Given the description of an element on the screen output the (x, y) to click on. 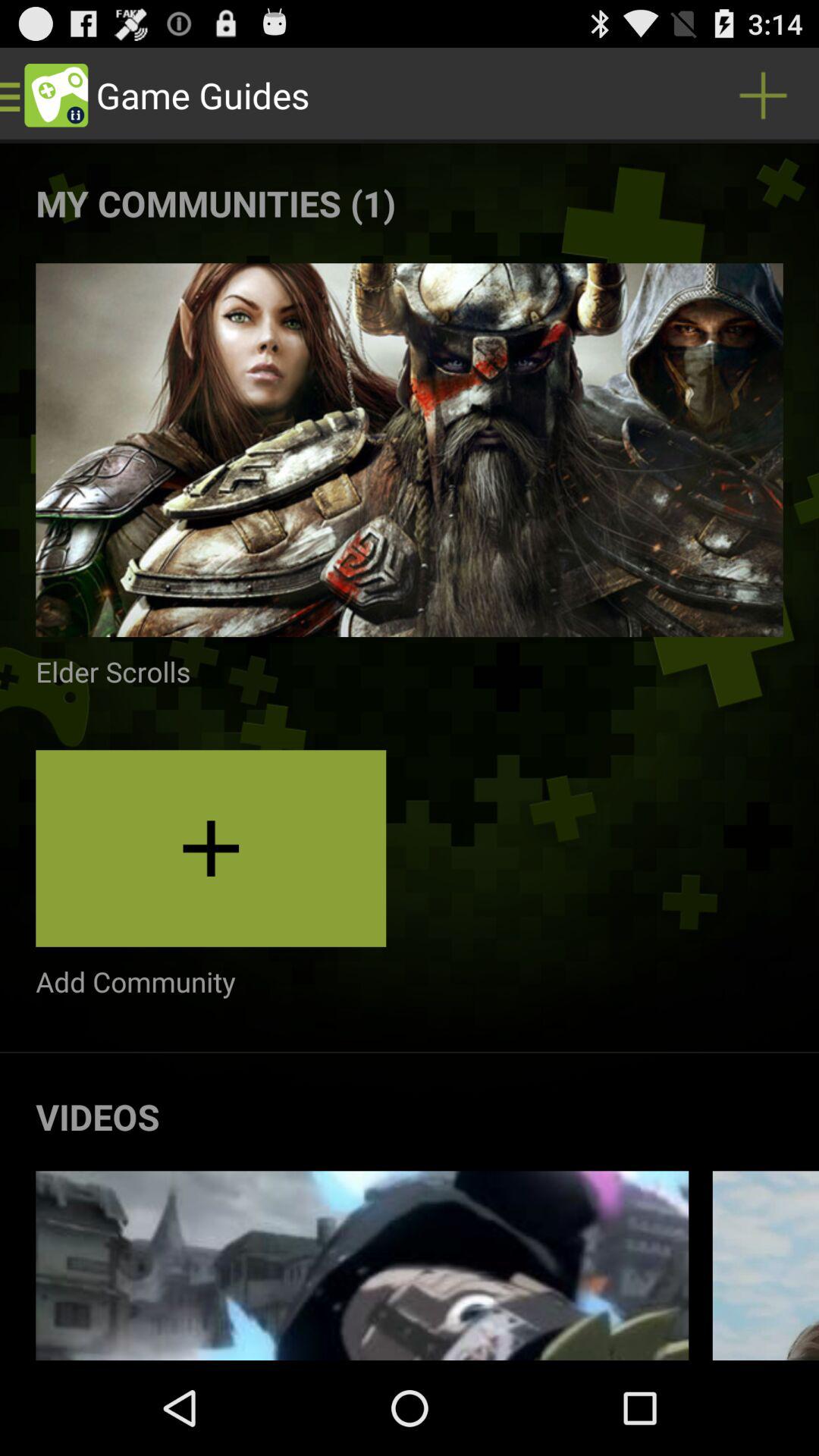
click on the first image below the text videos (362, 1264)
